Given the description of an element on the screen output the (x, y) to click on. 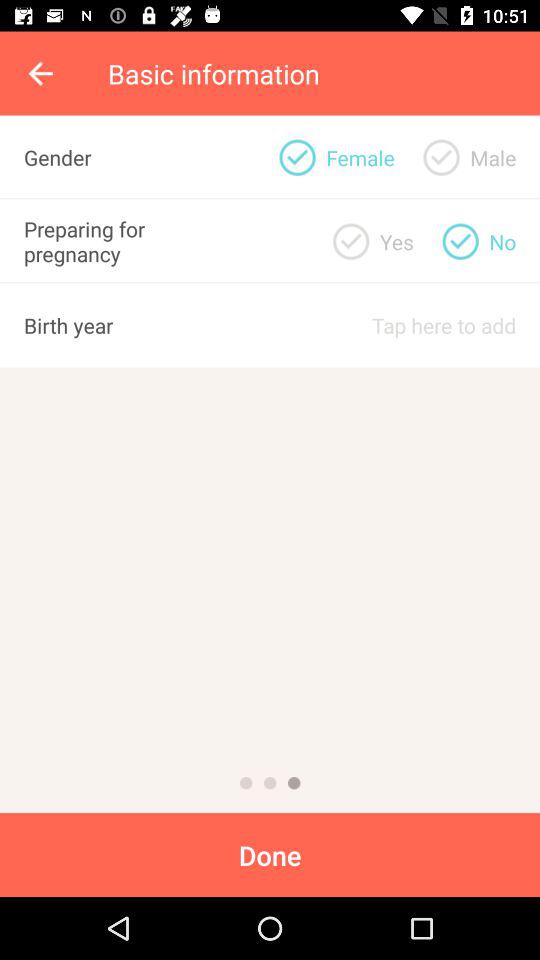
choose male gender (441, 157)
